Given the description of an element on the screen output the (x, y) to click on. 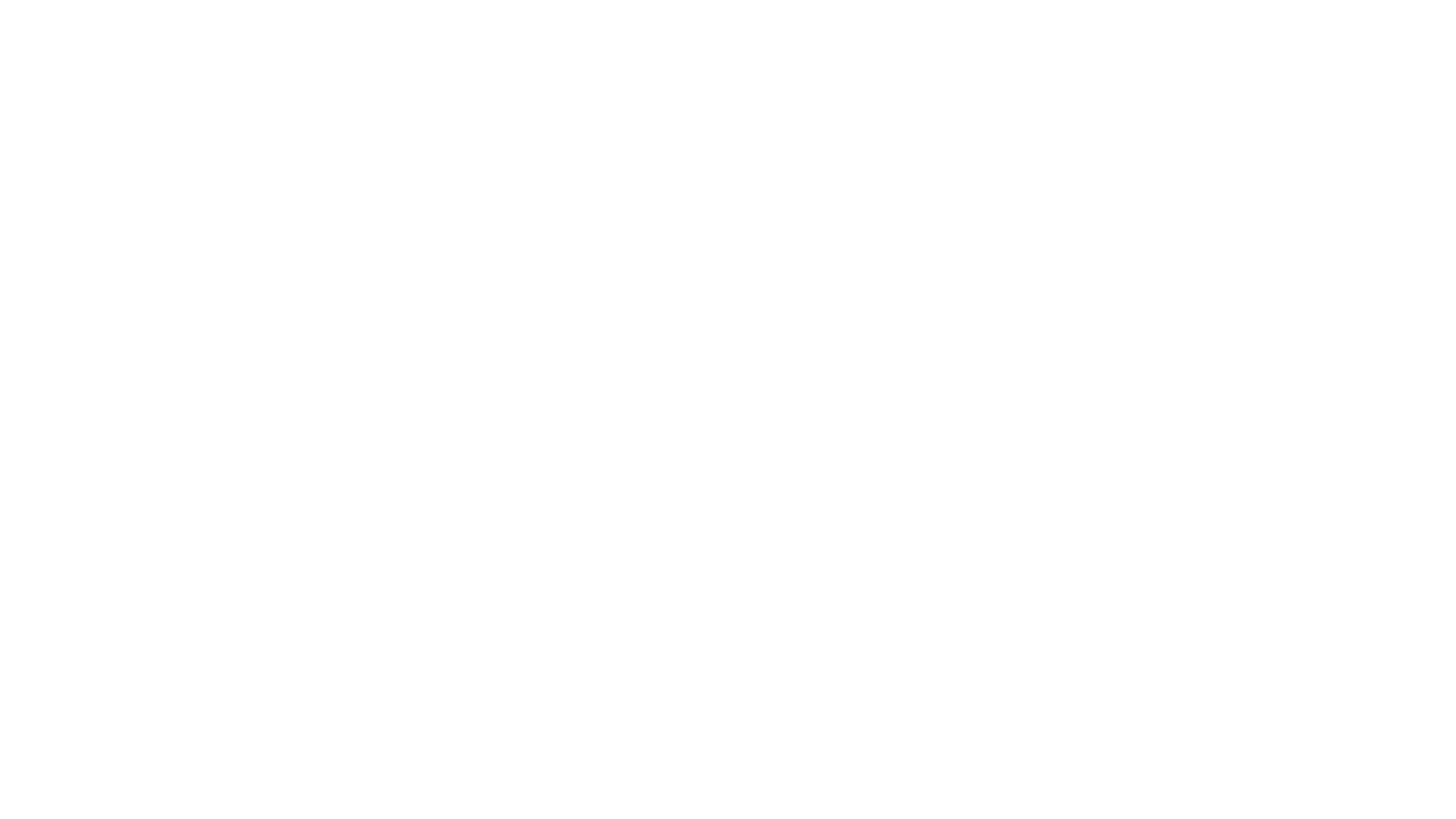
click here Element type: text (816, 99)
